Given the description of an element on the screen output the (x, y) to click on. 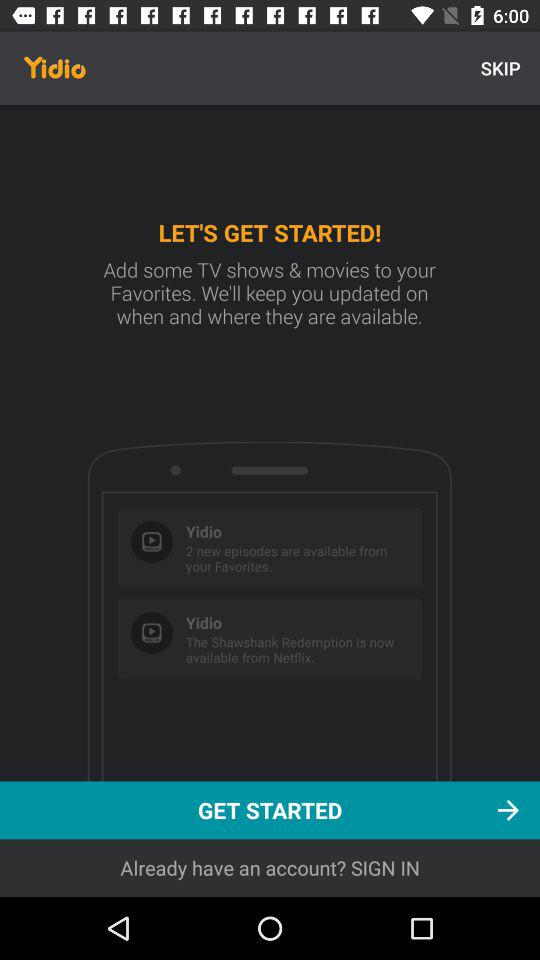
open the already have an icon (270, 867)
